Given the description of an element on the screen output the (x, y) to click on. 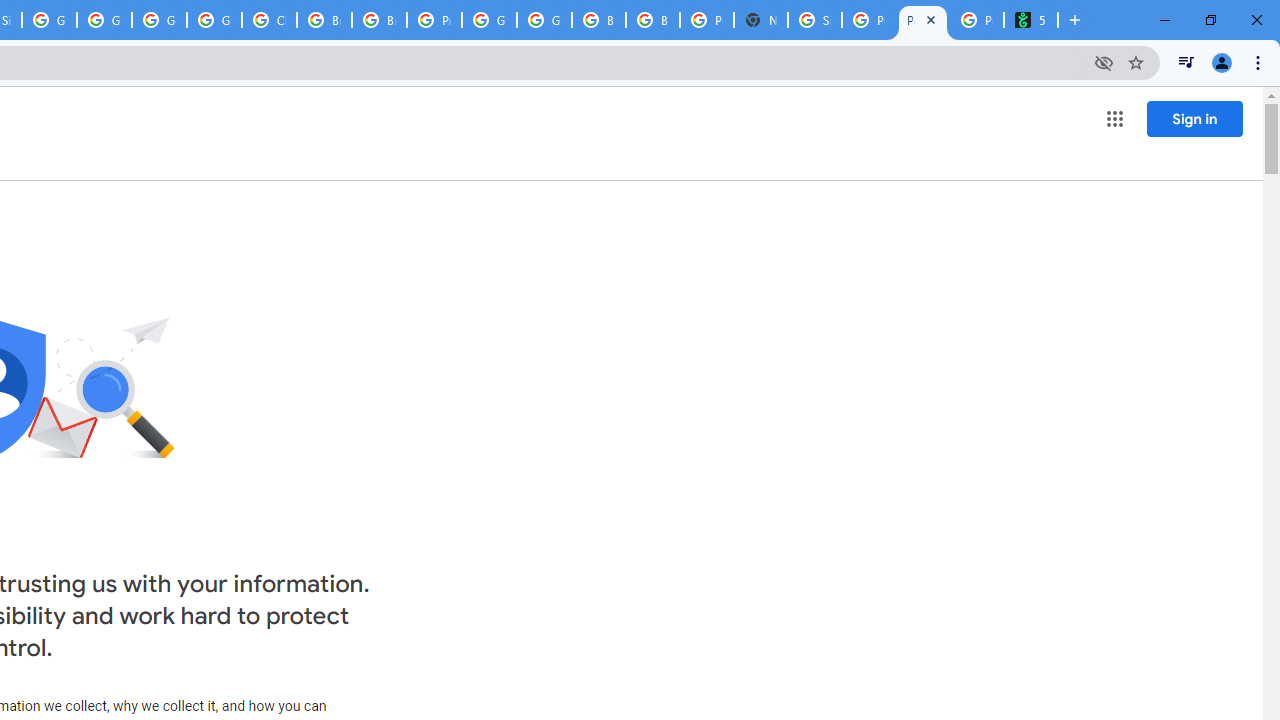
Google Cloud Platform (544, 20)
Google Cloud Platform (489, 20)
Google Cloud Platform (158, 20)
